Given the description of an element on the screen output the (x, y) to click on. 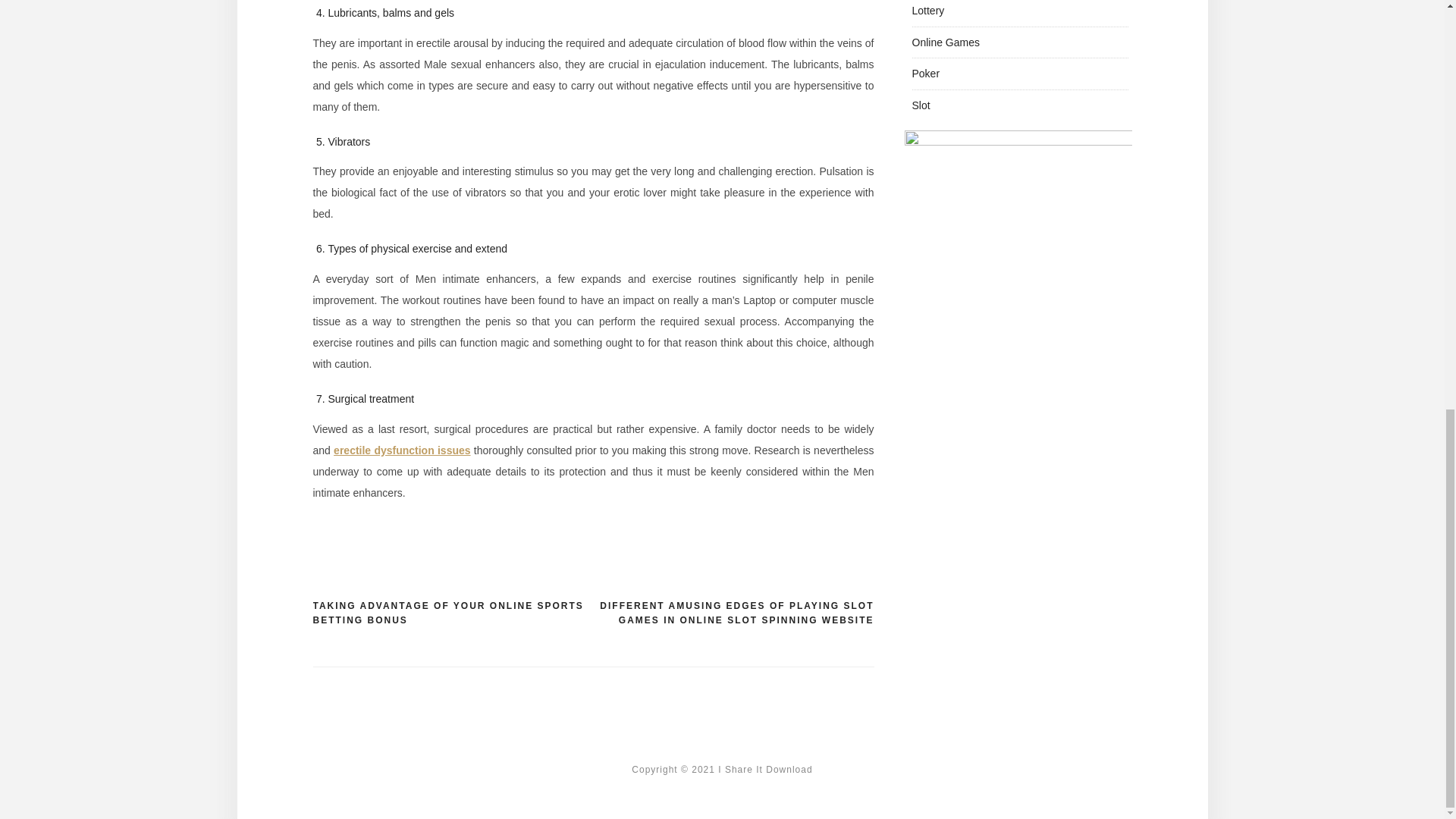
Lottery (927, 10)
Online Games (944, 41)
erectile dysfunction issues (401, 450)
Slot (920, 105)
TAKING ADVANTAGE OF YOUR ONLINE SPORTS BETTING BONUS (452, 613)
Poker (925, 73)
